Given the description of an element on the screen output the (x, y) to click on. 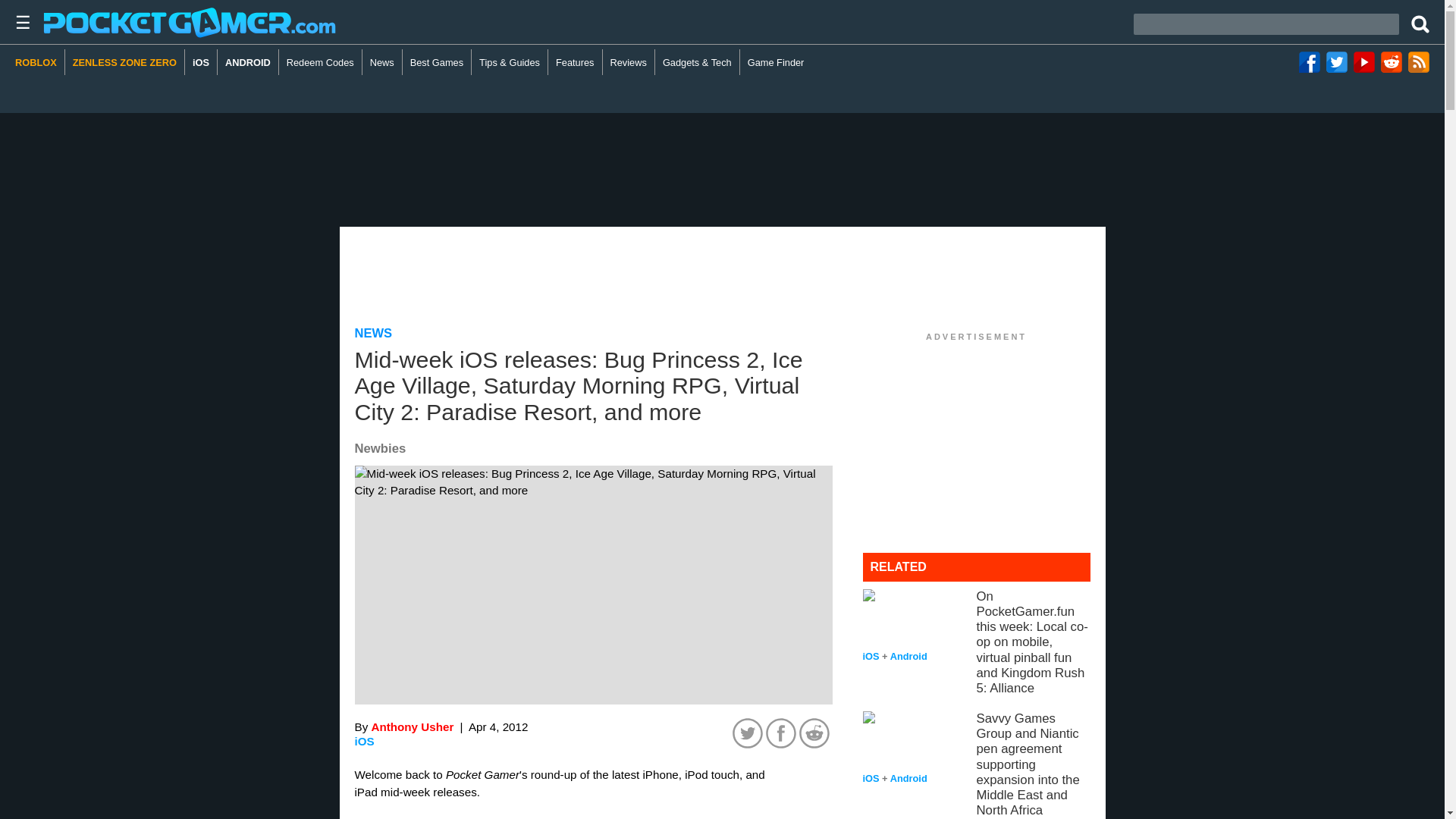
ROBLOX (39, 62)
Redeem Codes (320, 62)
Reviews (628, 62)
iOS (200, 62)
NEWS (374, 332)
Features (575, 62)
iOS (364, 740)
ZENLESS ZONE ZERO (124, 62)
Best Games (437, 62)
Game Finder (775, 62)
